Given the description of an element on the screen output the (x, y) to click on. 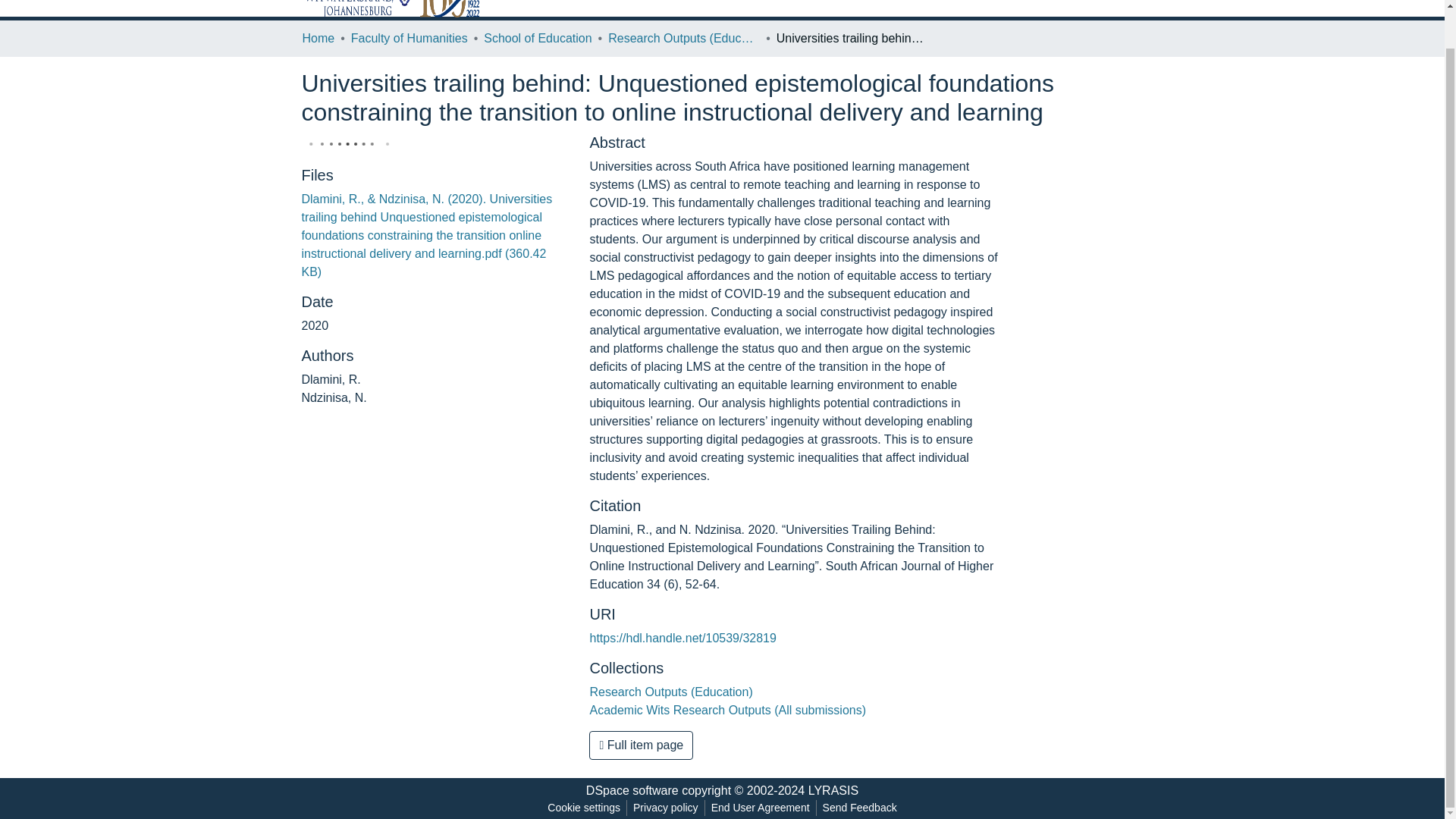
LYRASIS (833, 789)
Privacy policy (665, 807)
Statistics (916, 2)
School of Education (537, 38)
Cookie settings (583, 807)
Full item page (641, 745)
Home (317, 38)
Statistics (916, 2)
Faculty of Humanities (408, 38)
End User Agreement (759, 807)
Send Feedback (859, 807)
Browse WIReDSpace (817, 2)
DSpace software (632, 789)
